Given the description of an element on the screen output the (x, y) to click on. 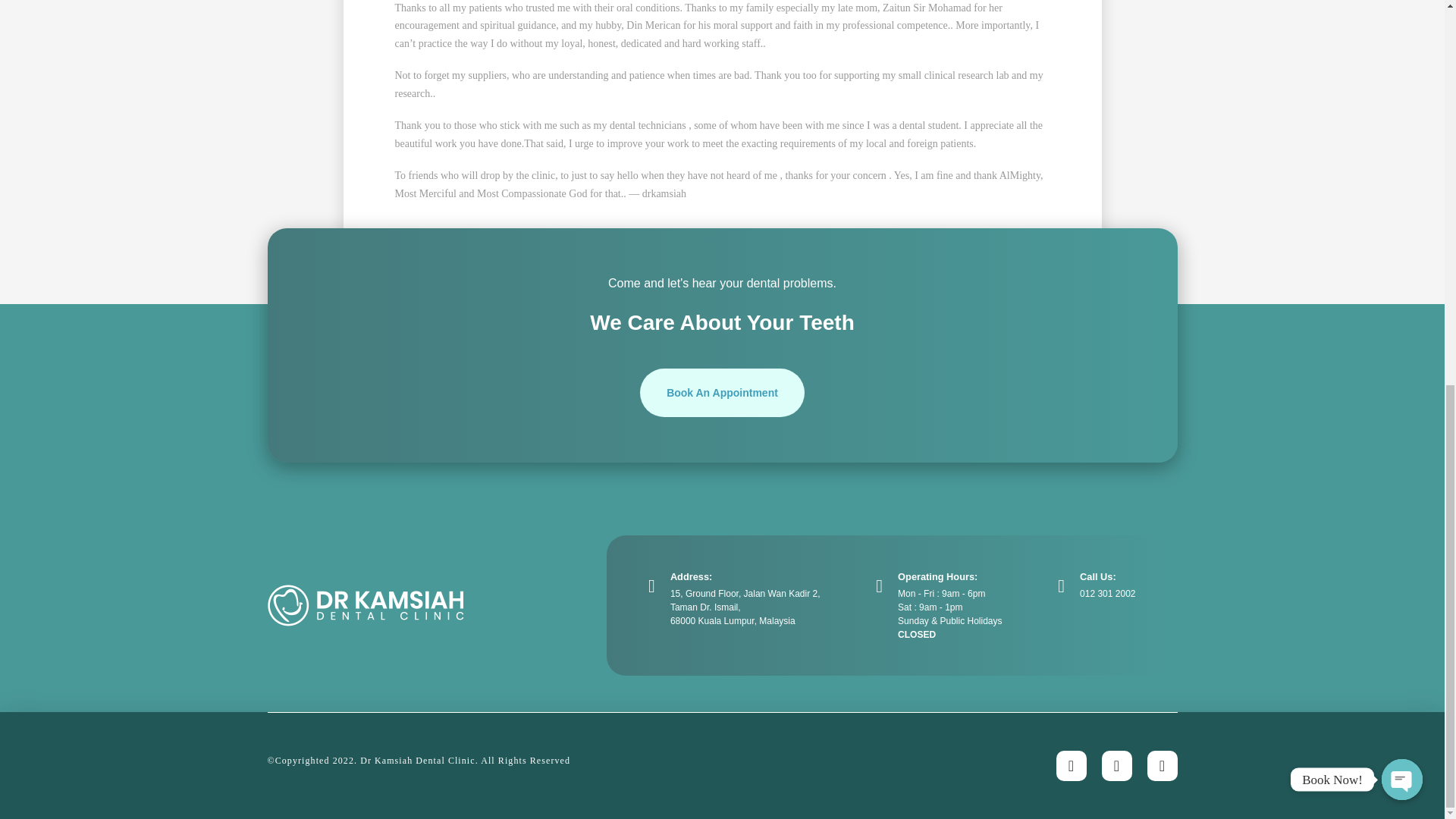
Book An Appointment (722, 392)
